Given the description of an element on the screen output the (x, y) to click on. 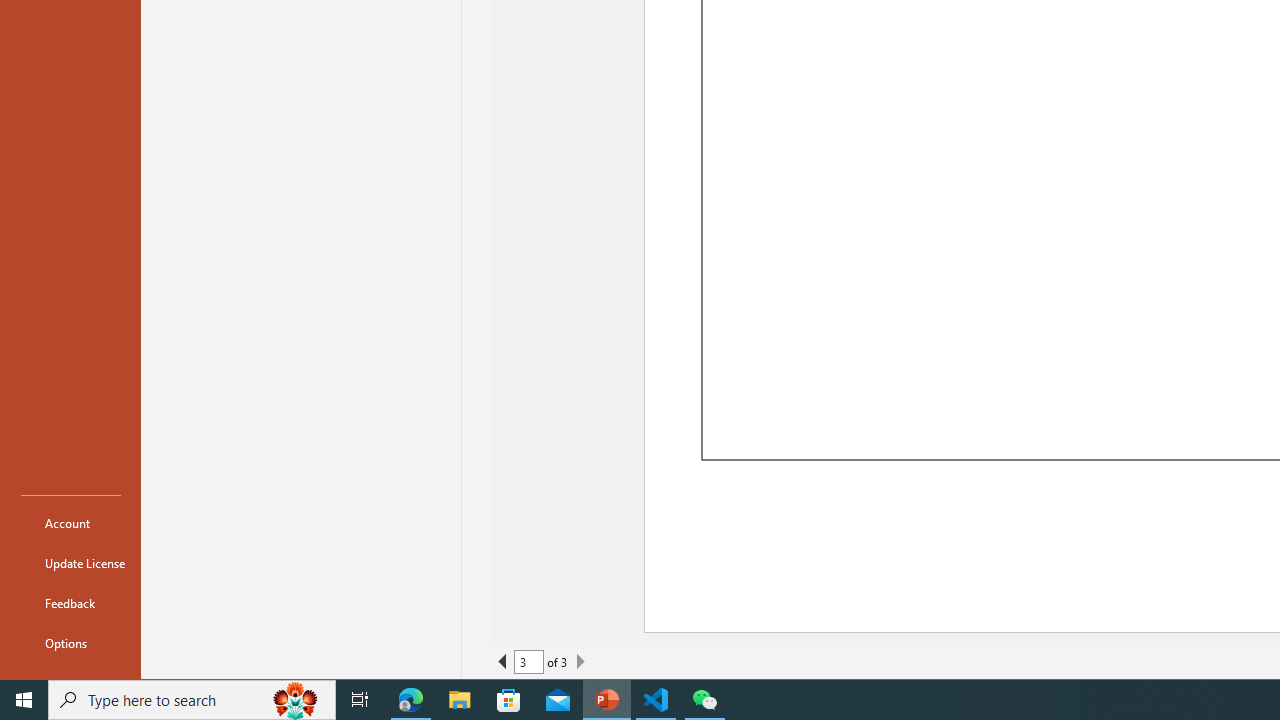
Feedback (70, 602)
